Given the description of an element on the screen output the (x, y) to click on. 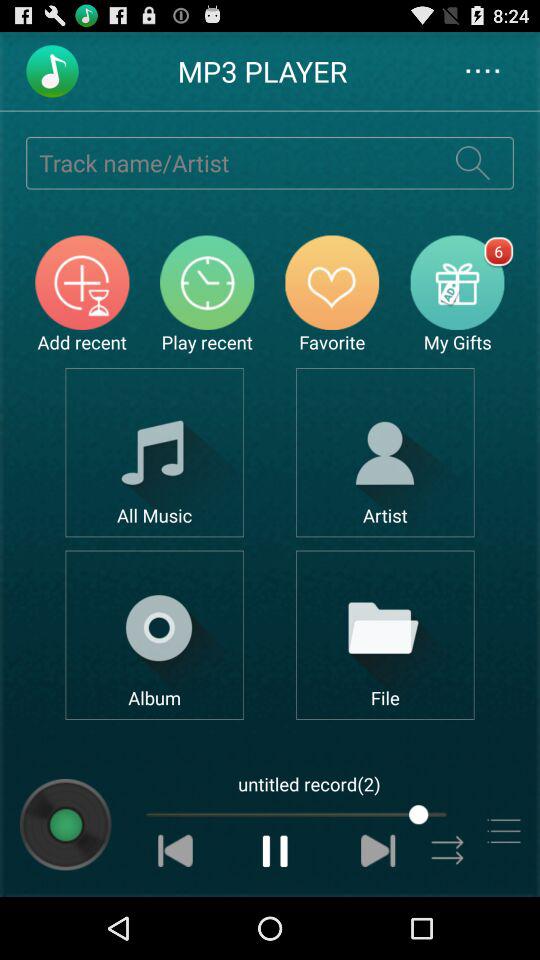
music album organizer menu button (154, 634)
